Given the description of an element on the screen output the (x, y) to click on. 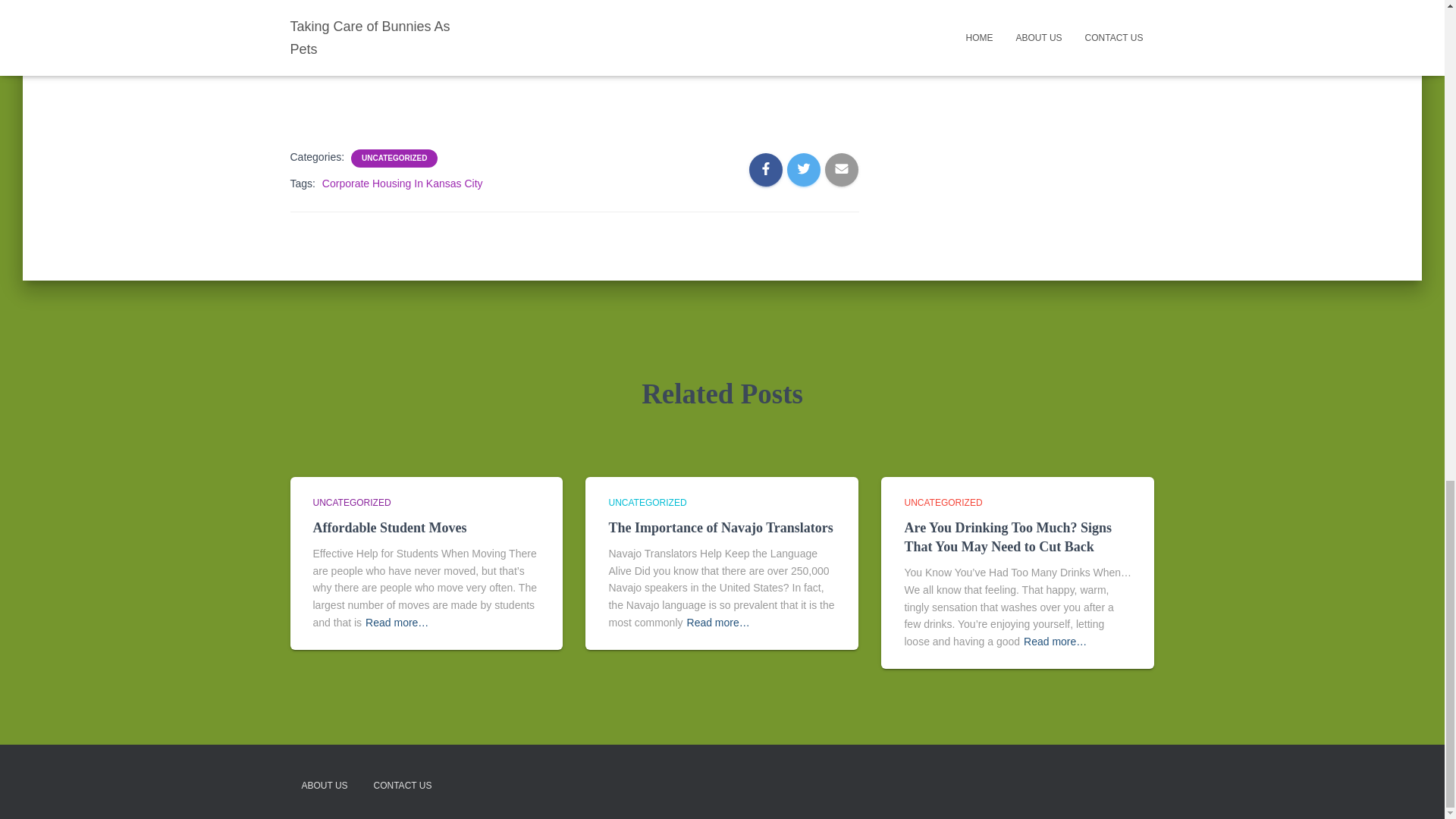
UNCATEGORIZED (646, 502)
View all posts in Uncategorized (646, 502)
View all posts in Uncategorized (351, 502)
The Importance of Navajo Translators (720, 527)
CONTACT US (403, 785)
View all posts in Uncategorized (942, 502)
Affordable Student Moves (389, 527)
Affordable Student Moves (389, 527)
UNCATEGORIZED (393, 158)
The Importance of Navajo Translators (720, 527)
Corporate Housing In Kansas City (402, 183)
UNCATEGORIZED (351, 502)
ABOUT US (323, 785)
